Given the description of an element on the screen output the (x, y) to click on. 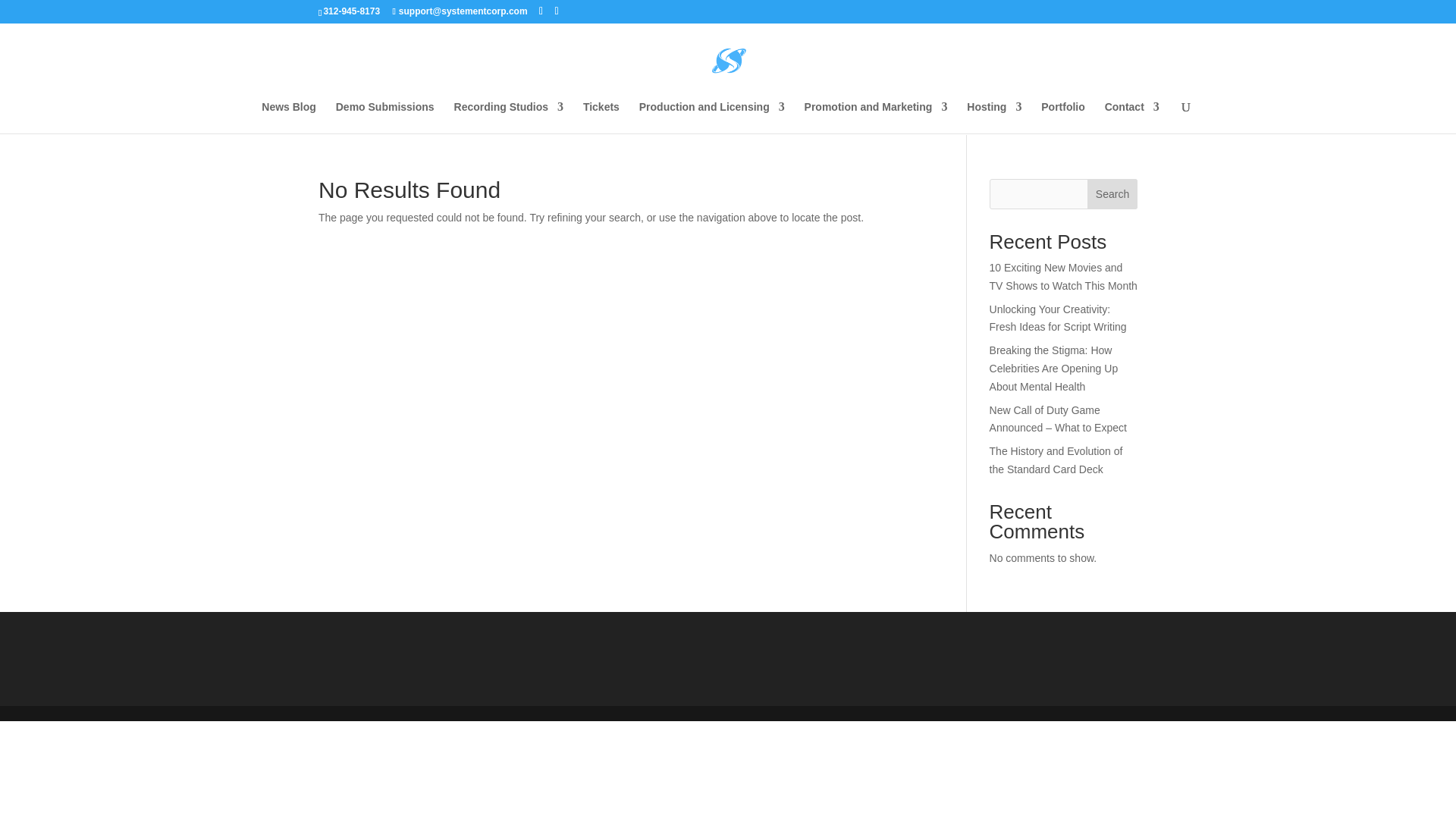
Hosting (994, 117)
Tickets (601, 117)
Contact (1131, 117)
News Blog (288, 117)
Demo Submissions (384, 117)
Portfolio (1062, 117)
Recording Studios (508, 117)
Promotion and Marketing (876, 117)
Production and Licensing (711, 117)
